Given the description of an element on the screen output the (x, y) to click on. 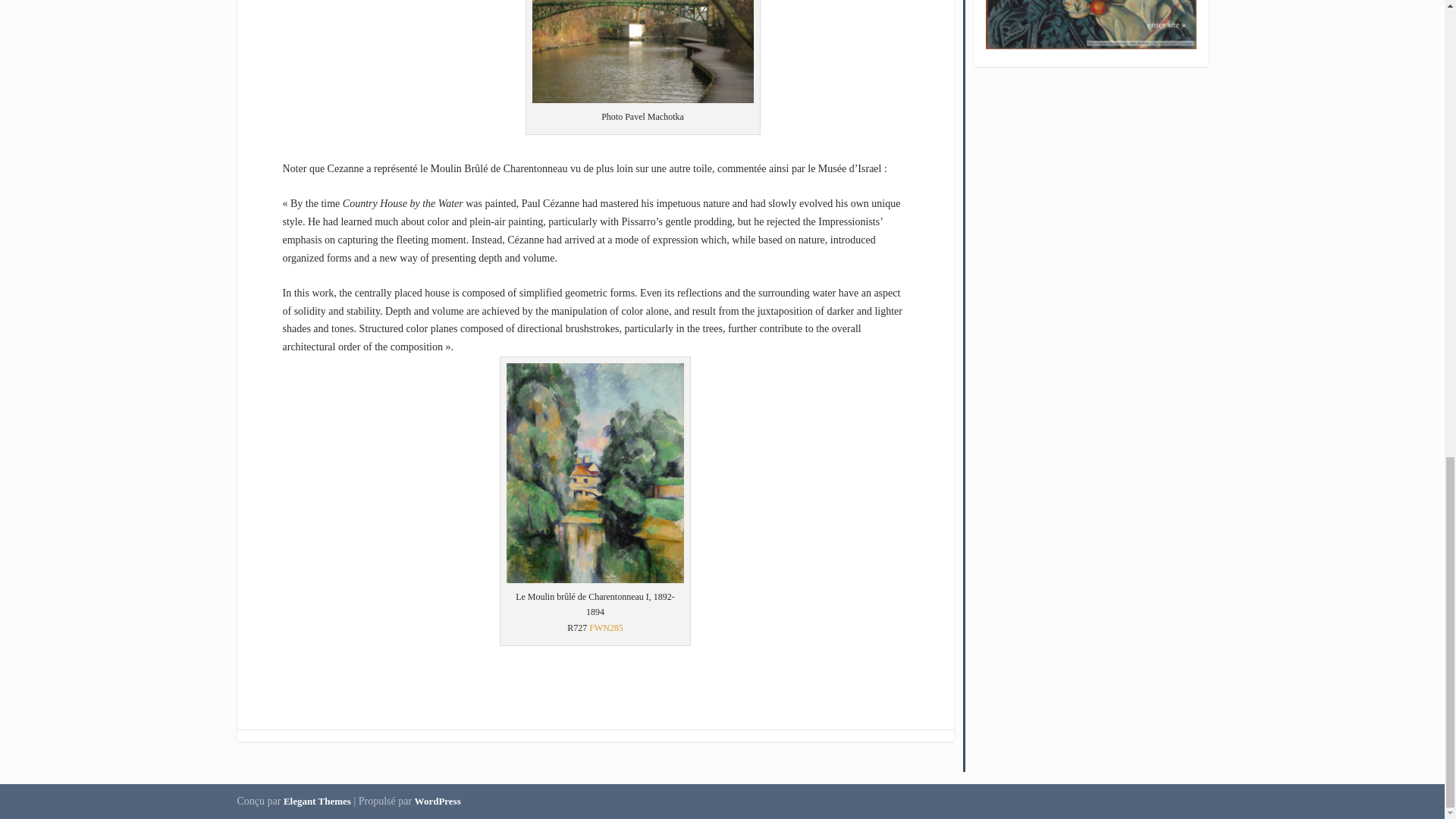
Premium WordPress Themes (316, 800)
WordPress (437, 800)
FWN285 (606, 627)
Elegant Themes (316, 800)
